Given the description of an element on the screen output the (x, y) to click on. 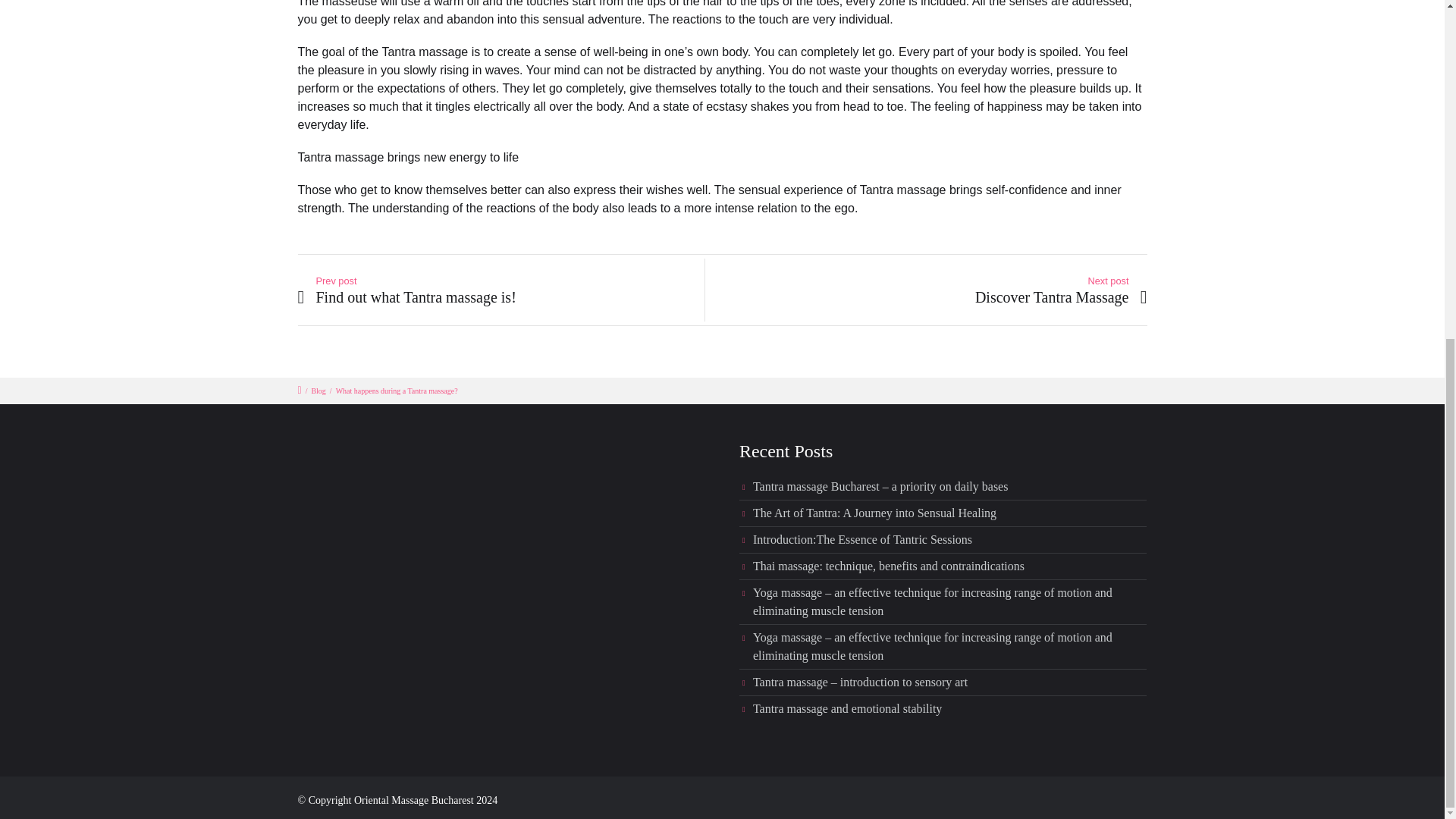
Discover Tantra Massage (940, 297)
Find out what Tantra massage is! (504, 297)
Blog (317, 390)
Tantra massage and emotional stability (847, 707)
Introduction:The Essence of Tantric Sessions (862, 539)
Thai massage: technique, benefits and contraindications (888, 565)
The Art of Tantra: A Journey into Sensual Healing (873, 512)
